Given the description of an element on the screen output the (x, y) to click on. 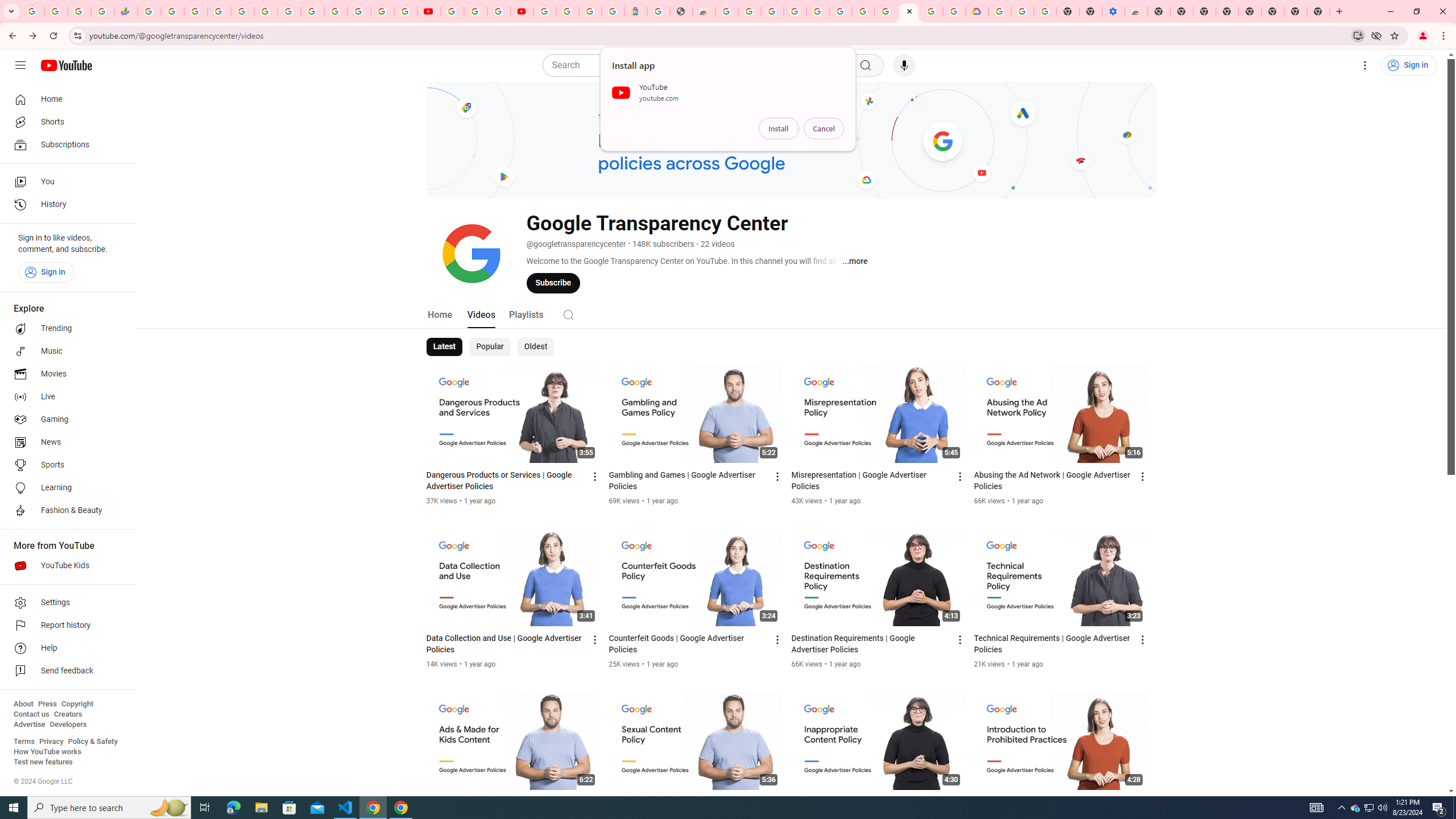
Install (778, 128)
